Given the description of an element on the screen output the (x, y) to click on. 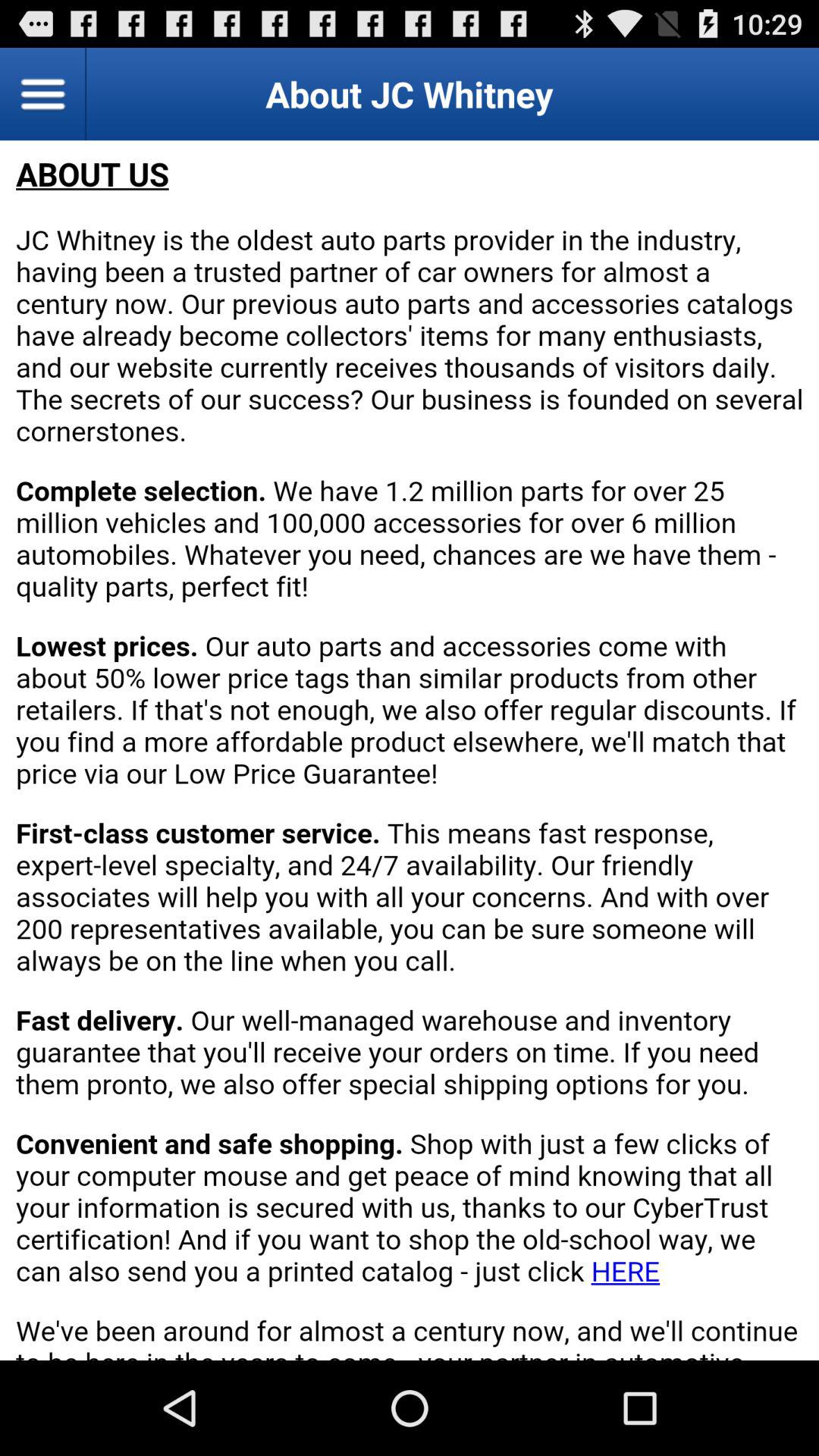
about jc whitney (409, 750)
